Given the description of an element on the screen output the (x, y) to click on. 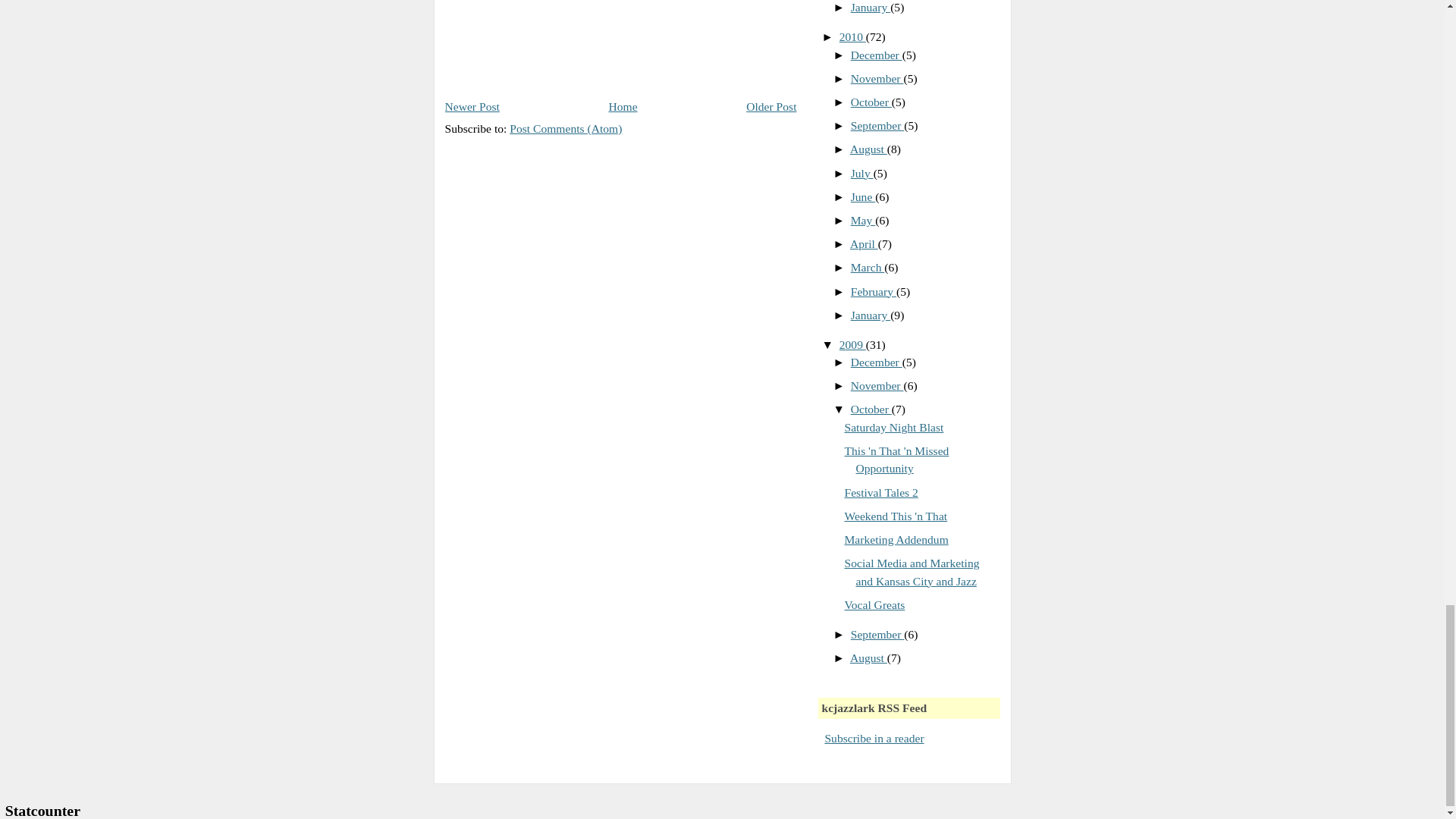
Older Post (770, 106)
Older Post (770, 106)
Newer Post (471, 106)
Newer Post (471, 106)
Home (622, 106)
